Given the description of an element on the screen output the (x, y) to click on. 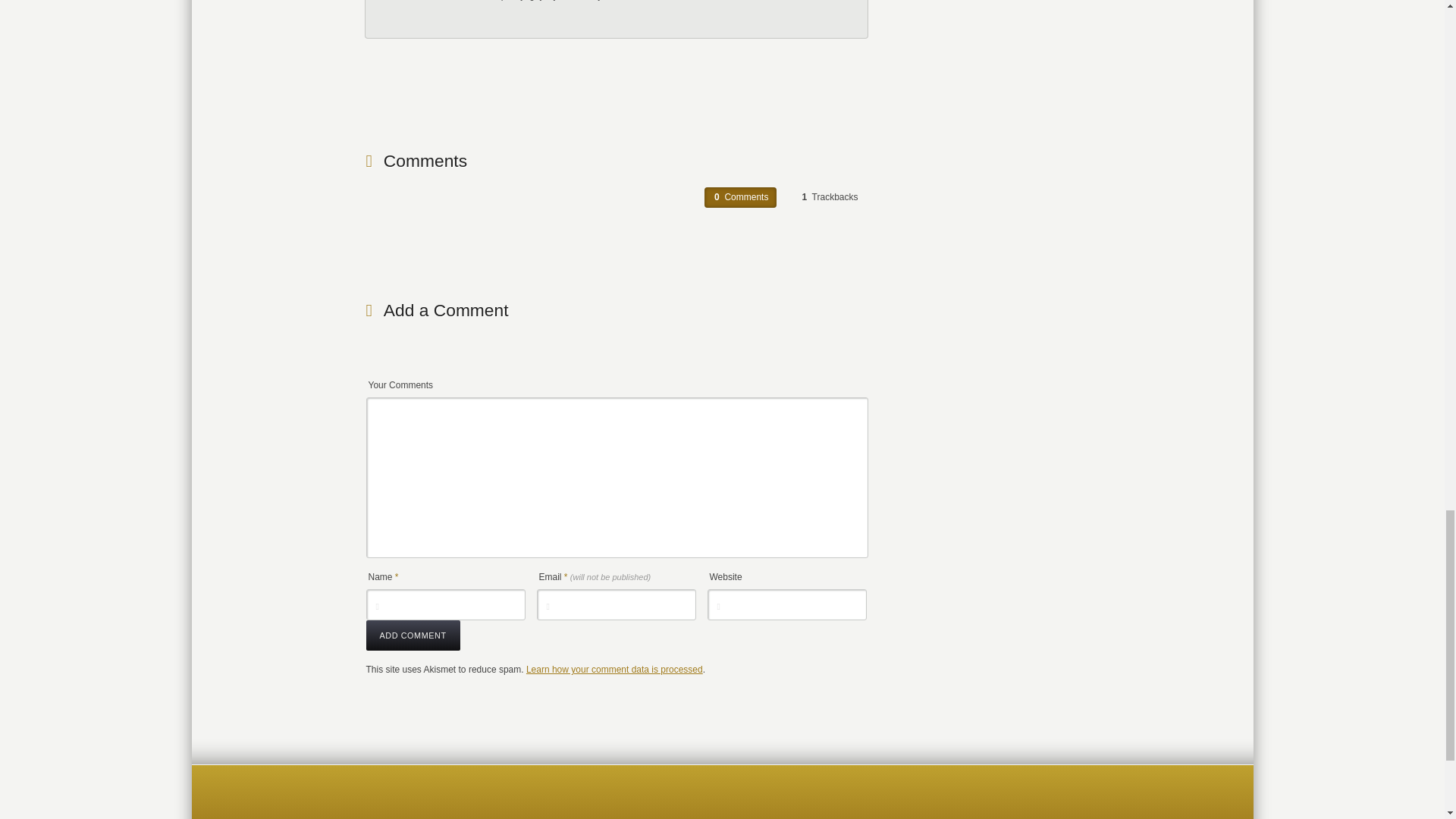
Add Comment (412, 634)
